Given the description of an element on the screen output the (x, y) to click on. 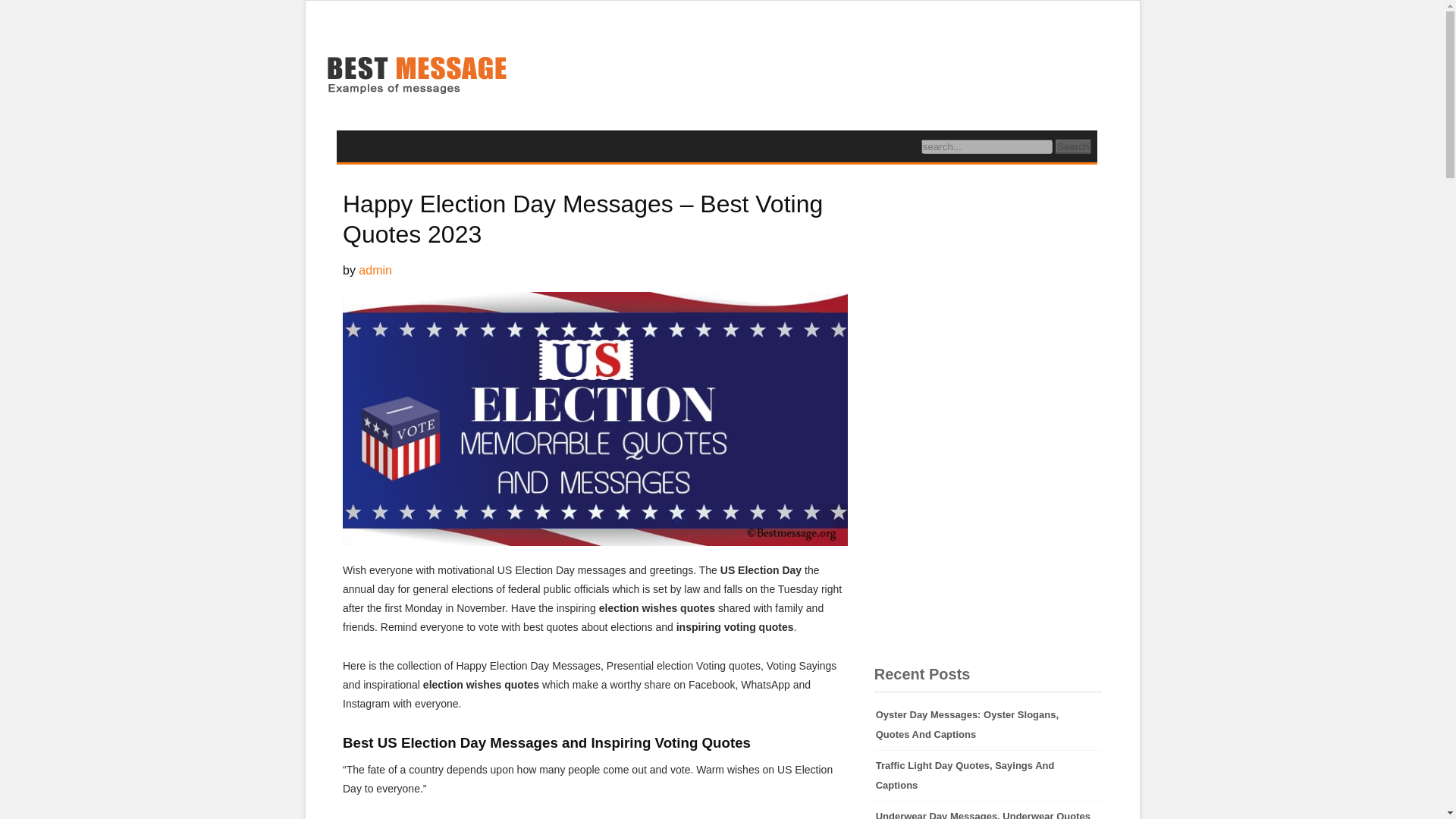
Best Message (415, 76)
Oyster Day Messages: Oyster Slogans, Quotes And Captions (988, 725)
Search (1072, 146)
Search (1072, 146)
Traffic Light Day Quotes, Sayings And Captions (988, 775)
admin (374, 269)
